Given the description of an element on the screen output the (x, y) to click on. 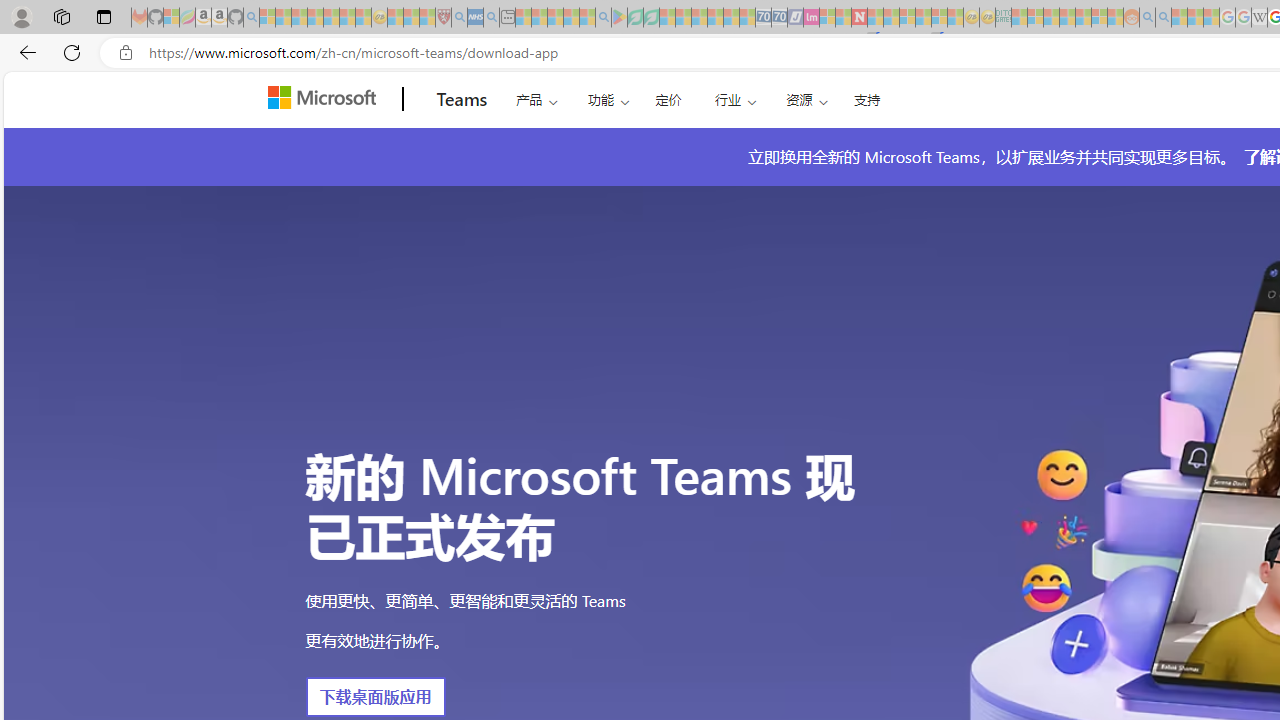
Cheap Car Rentals - Save70.com - Sleeping (763, 17)
DITOGAMES AG Imprint - Sleeping (1003, 17)
Cheap Hotels - Save70.com - Sleeping (779, 17)
Kinda Frugal - MSN - Sleeping (1083, 17)
New Report Confirms 2023 Was Record Hot | Watch - Sleeping (331, 17)
Trusted Community Engagement and Contributions | Guidelines (875, 17)
